Given the description of an element on the screen output the (x, y) to click on. 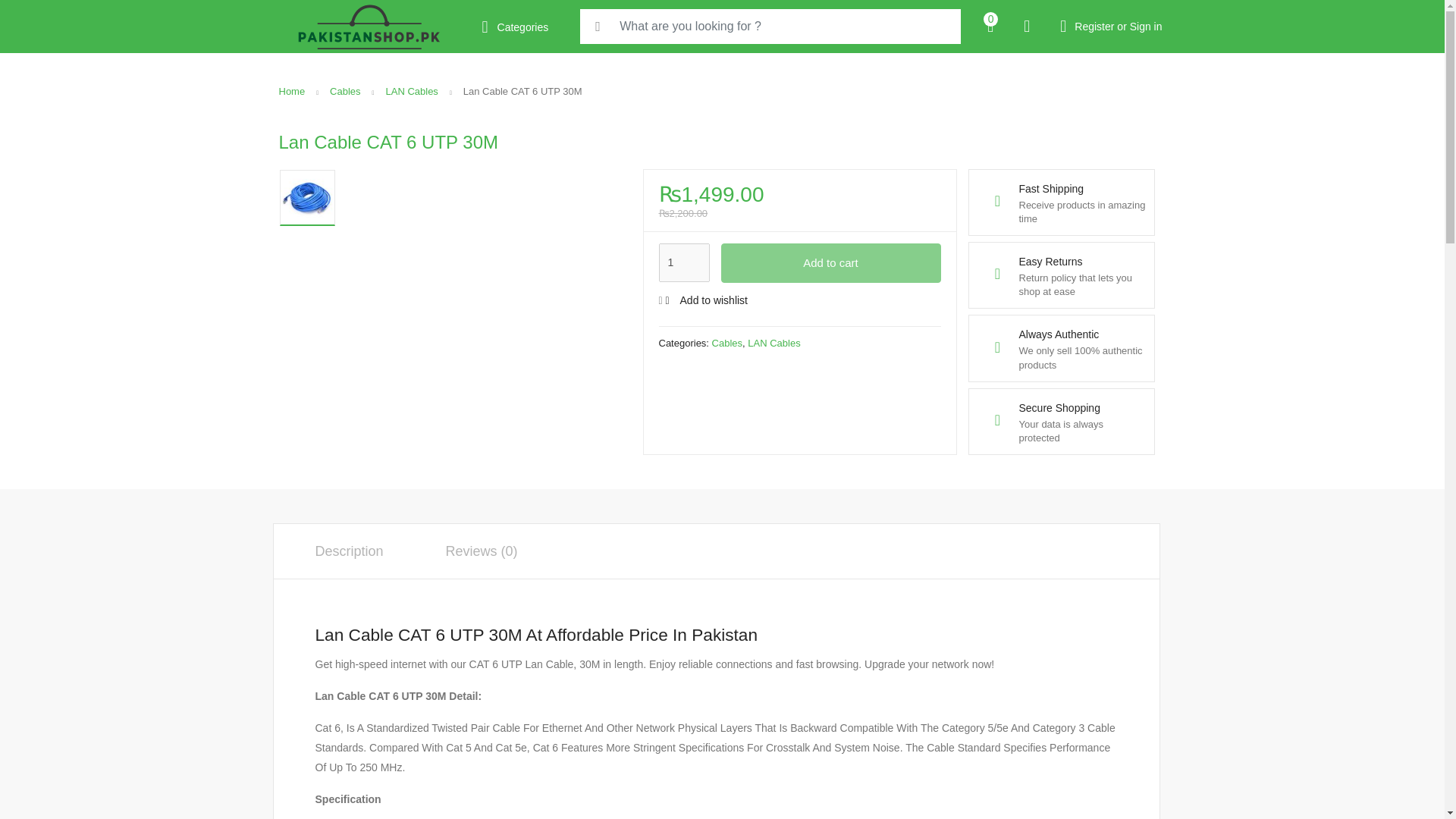
Categories (519, 26)
Lan Cable CAT 6 UTP 30M (306, 197)
1 (683, 262)
